Given the description of an element on the screen output the (x, y) to click on. 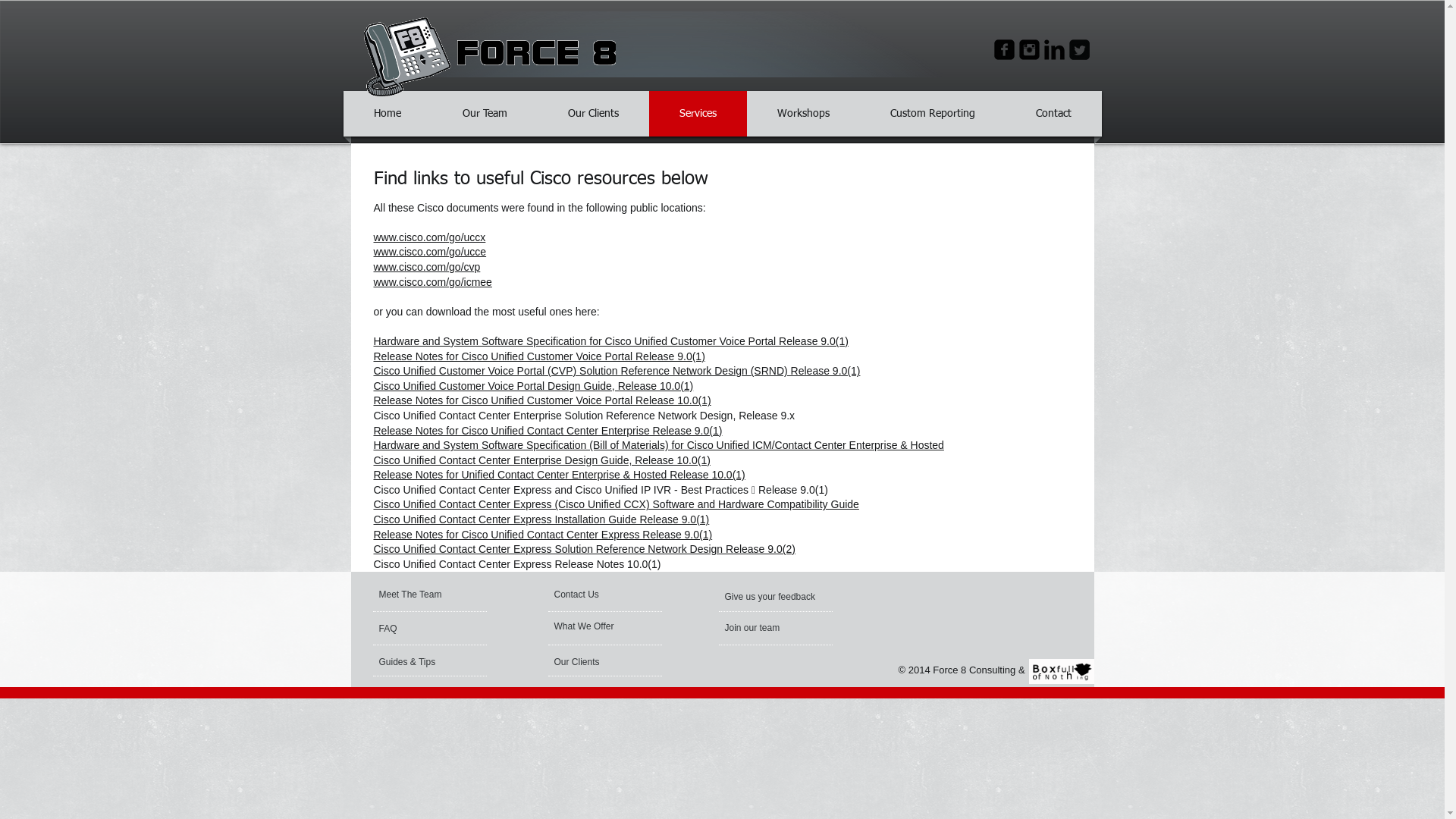
Contact Us Element type: text (589, 594)
Custom Reporting Element type: text (931, 113)
www.cisco.com/go/cvp Element type: text (426, 266)
Meet The Team Element type: text (437, 594)
BoxFullofNothing Logo Element type: hover (1060, 671)
www.cisco.com/go/icmee Element type: text (432, 282)
Give us your feedback Element type: text (771, 596)
Contact Element type: text (1052, 113)
Join our team Element type: text (765, 627)
What We Offer Element type: text (594, 626)
Guides & Tips Element type: text (419, 661)
www.cisco.com/go/uccx Element type: text (429, 237)
www.cisco.com/go/ucce Element type: text (429, 251)
Our Team Element type: text (484, 113)
Workshops Element type: text (803, 113)
FAQ Element type: text (422, 628)
Home Element type: text (387, 113)
Our Clients Element type: text (593, 113)
Our Clients Element type: text (594, 661)
Services Element type: text (697, 113)
Cisco Unified Contact Center Express Release Notes 10.0(1) Element type: text (516, 564)
